Given the description of an element on the screen output the (x, y) to click on. 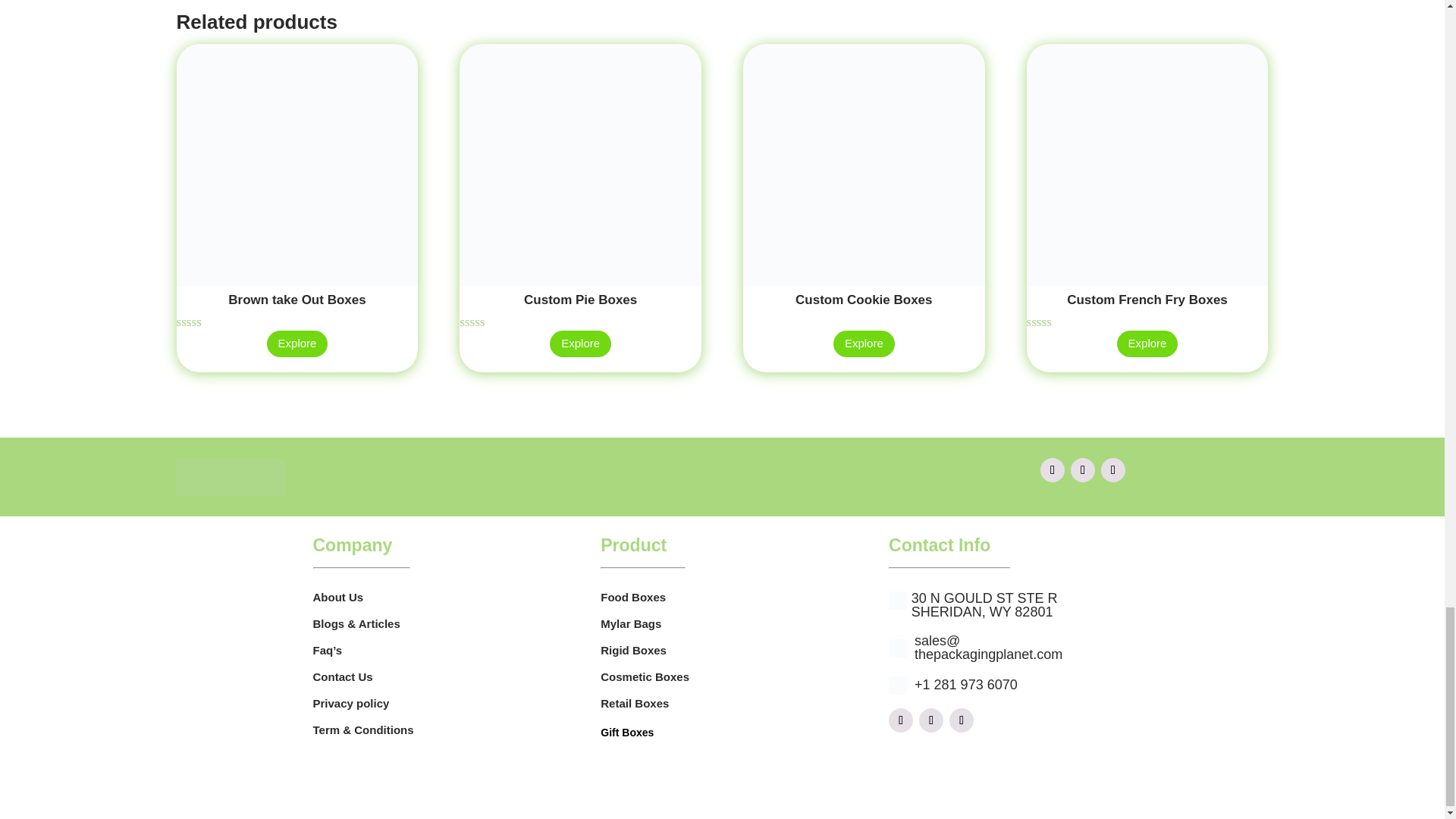
Follow on LinkedIn (961, 720)
Follow on Facebook (1052, 469)
Follow on Facebook (900, 720)
Follow on Instagram (930, 720)
Follow on LinkedIn (1112, 469)
Follow on Instagram (1082, 469)
